Given the description of an element on the screen output the (x, y) to click on. 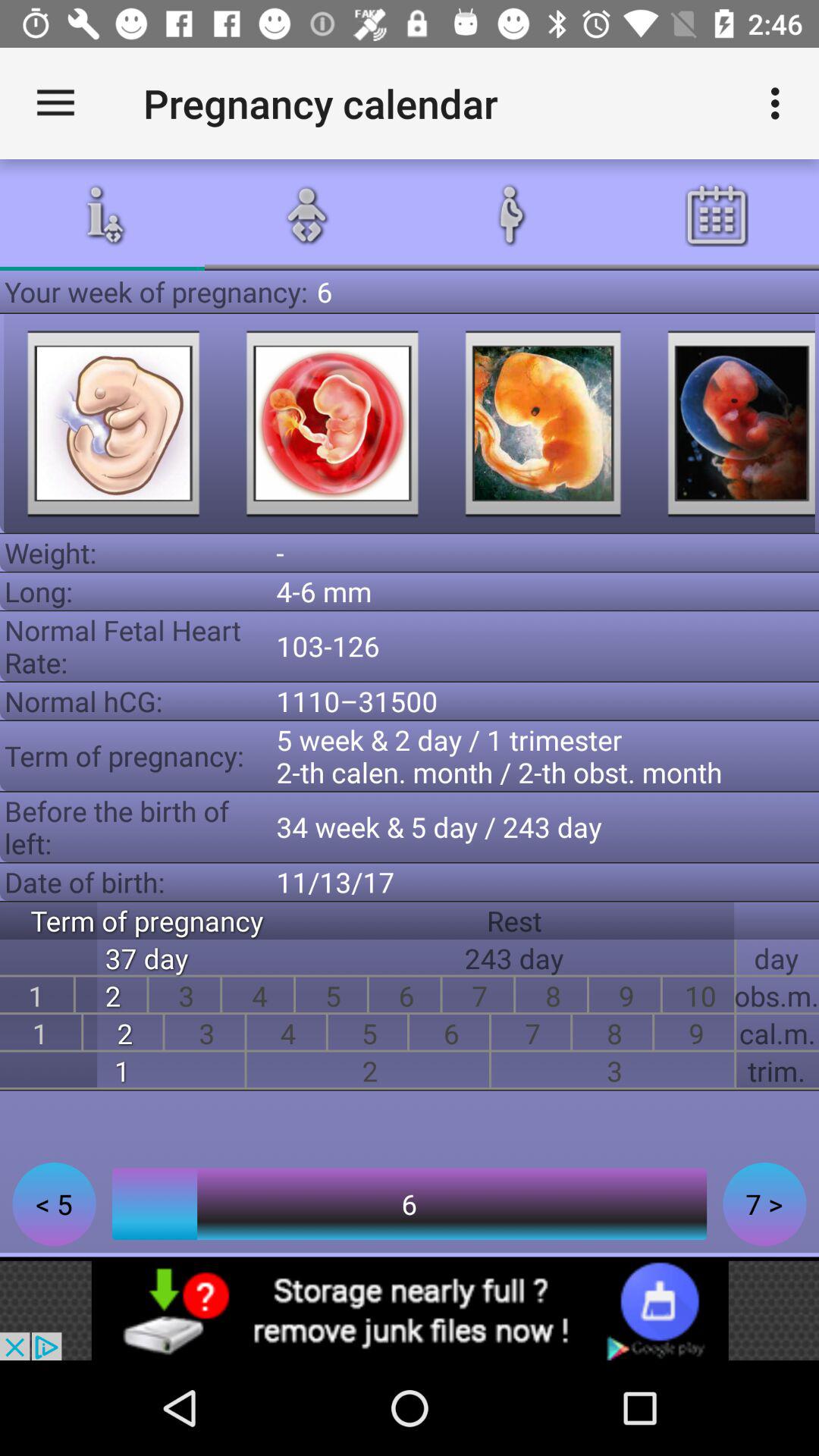
picture display (542, 422)
